Given the description of an element on the screen output the (x, y) to click on. 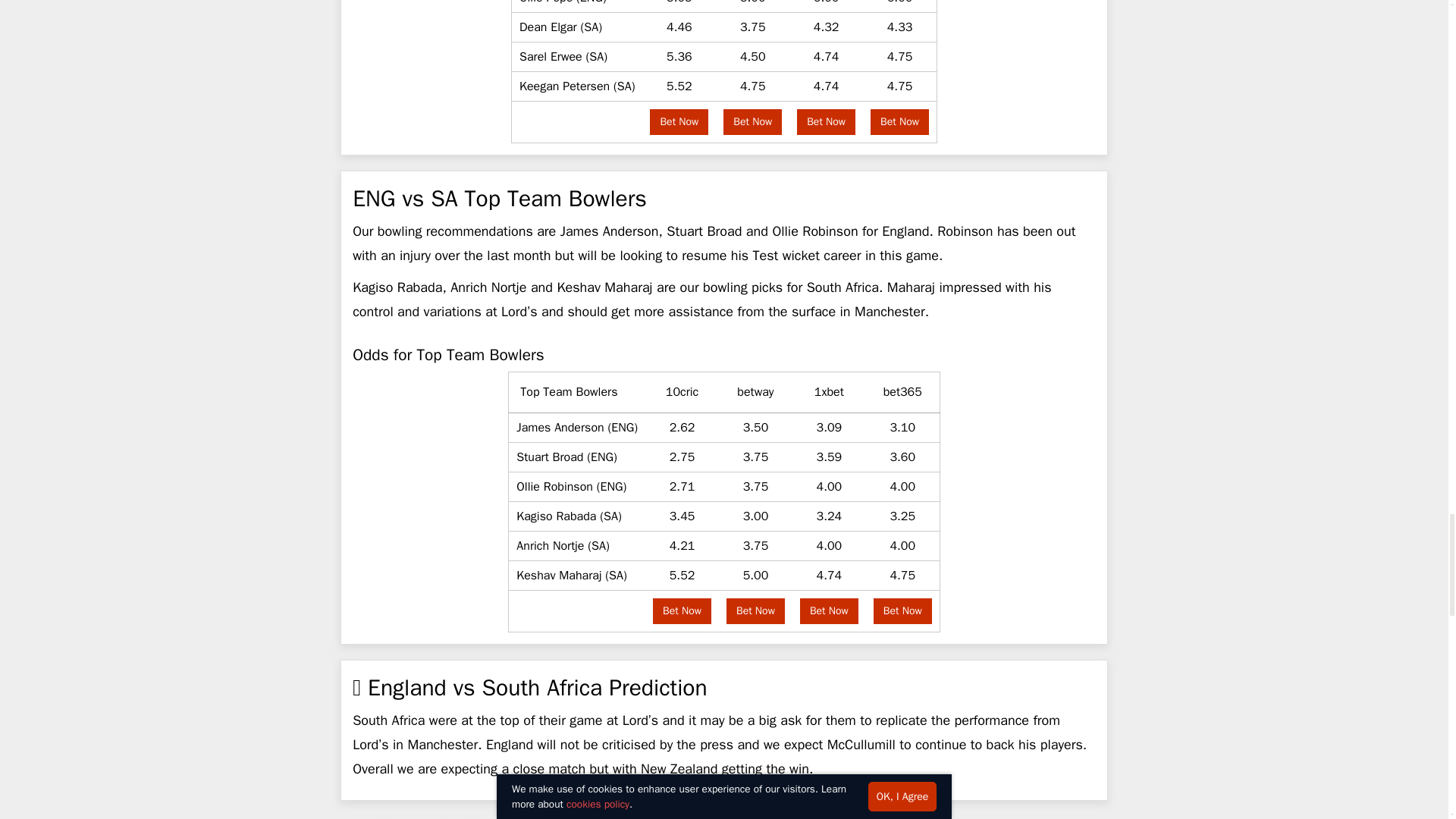
Bet Now (755, 611)
Bet Now (681, 611)
Bet Now (678, 121)
Bet Now (899, 121)
Bet Now (826, 121)
Bet Now (752, 121)
